Given the description of an element on the screen output the (x, y) to click on. 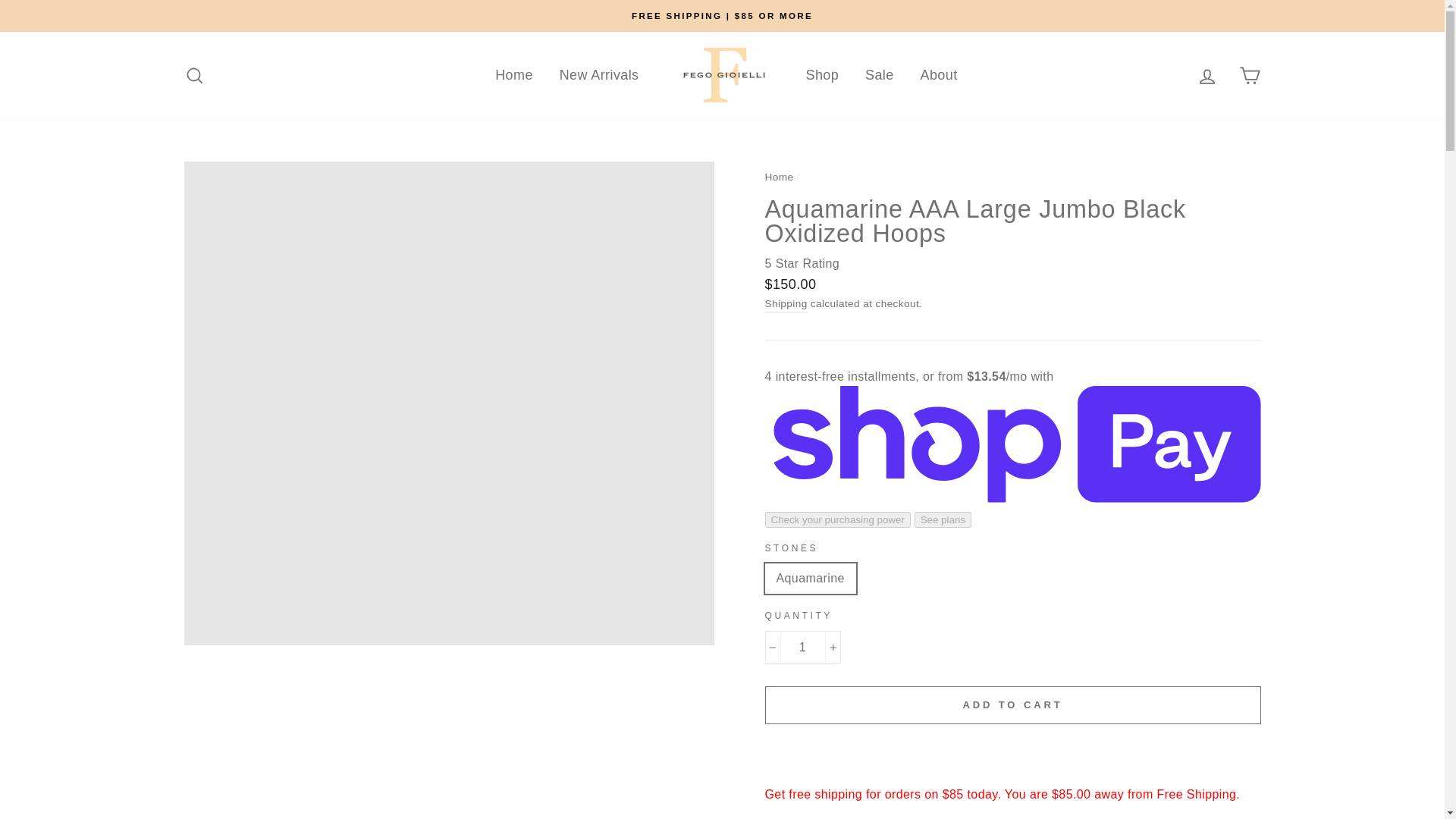
1 (802, 647)
Back to the frontpage (778, 176)
